Given the description of an element on the screen output the (x, y) to click on. 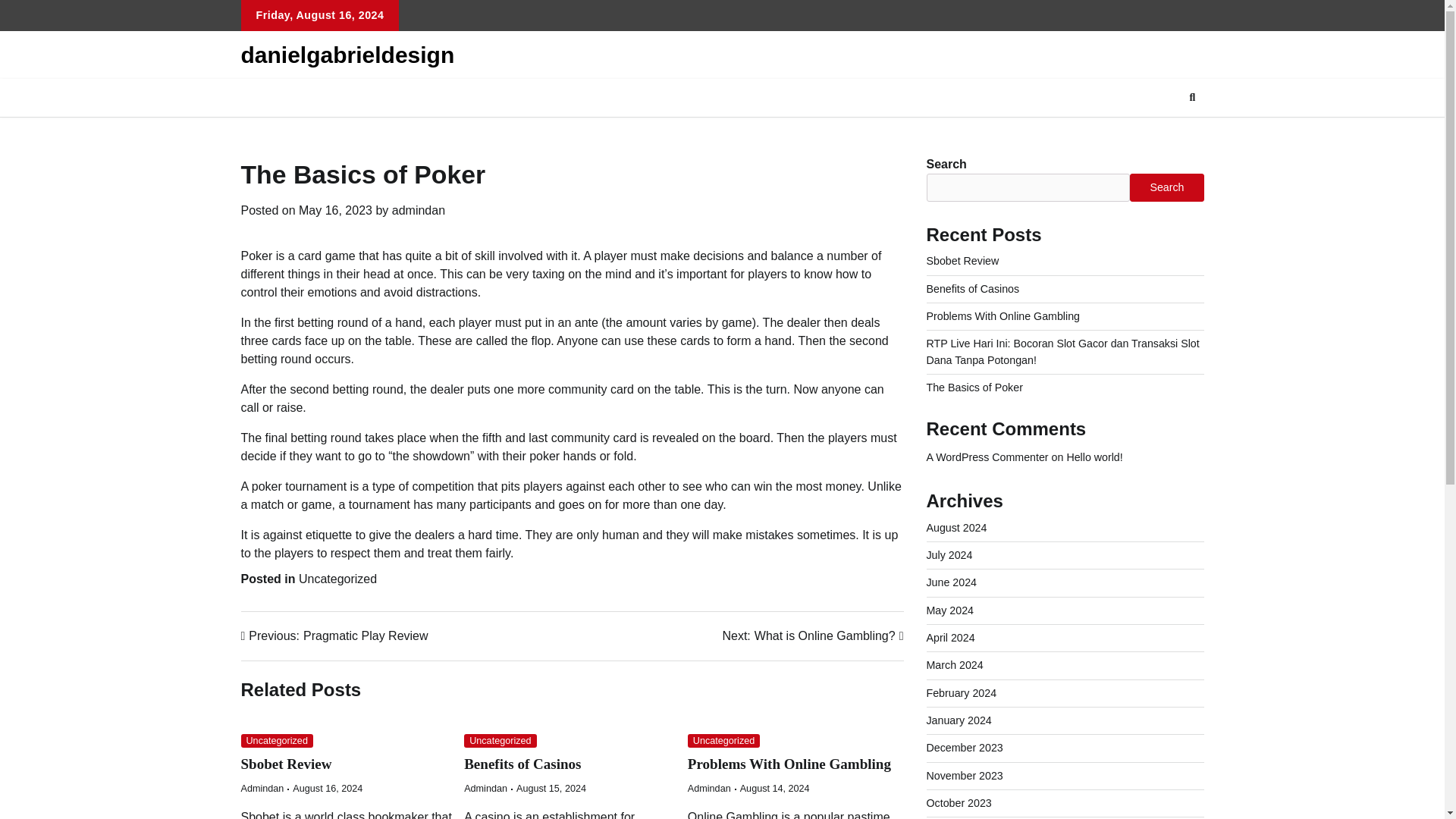
admindan (418, 210)
April 2024 (950, 637)
Uncategorized (499, 740)
Benefits of Casinos (522, 763)
The Basics of Poker (974, 387)
A WordPress Commenter (987, 457)
March 2024 (955, 664)
May 2024 (334, 636)
